Given the description of an element on the screen output the (x, y) to click on. 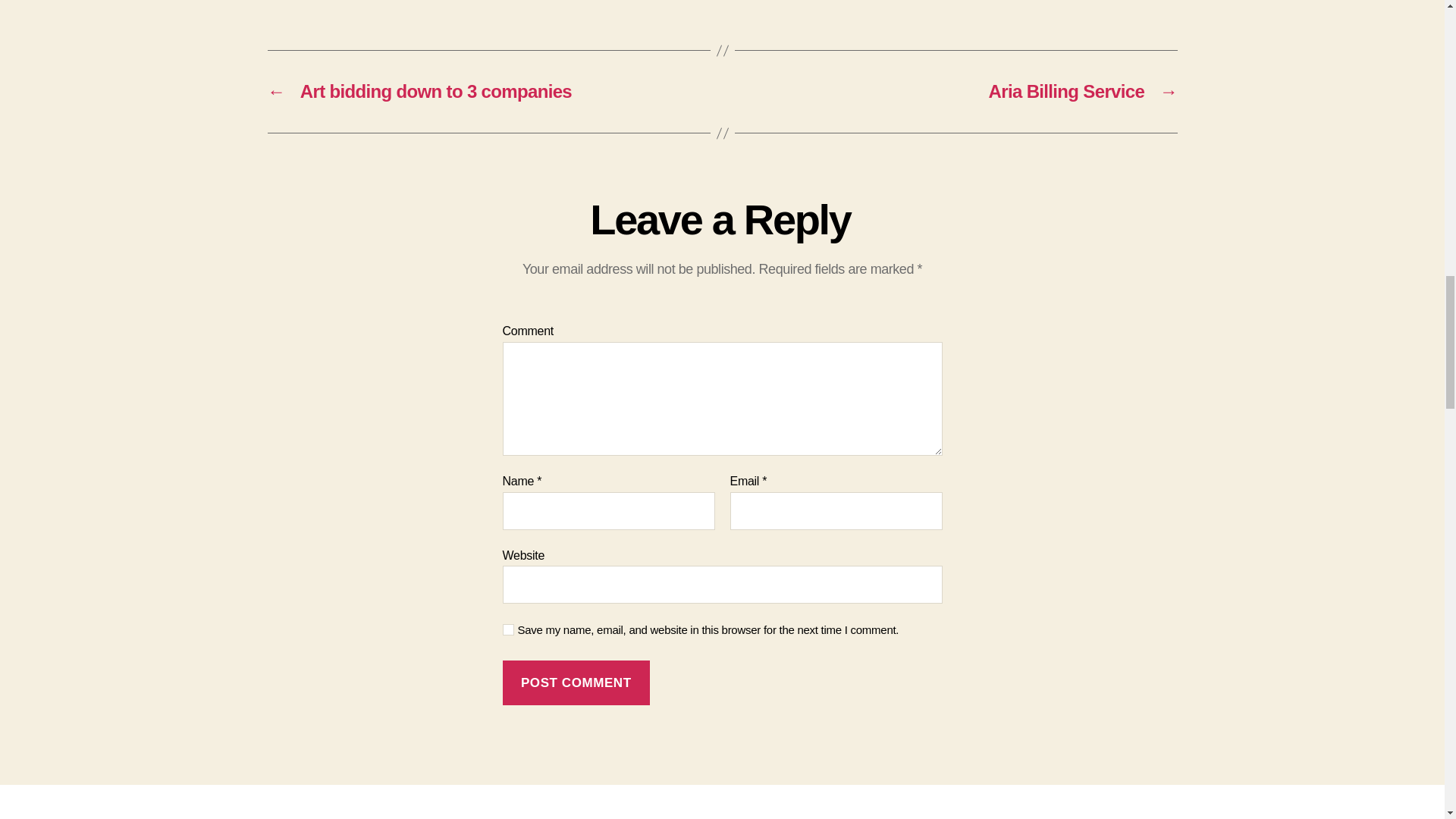
yes (507, 629)
Post Comment (575, 682)
Post Comment (575, 682)
